Given the description of an element on the screen output the (x, y) to click on. 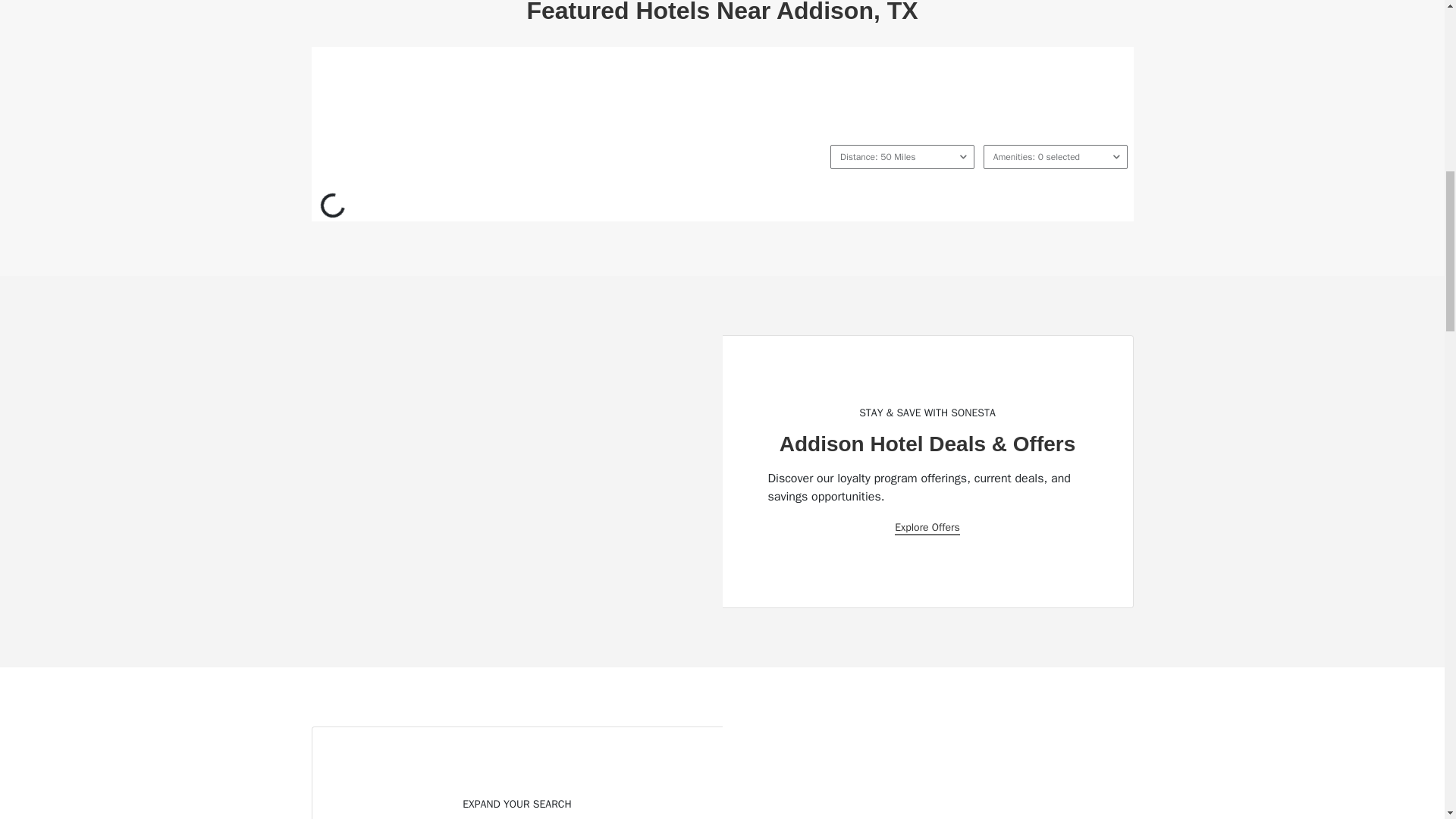
Explore Offers (927, 527)
Amenities: 0 selected (1055, 156)
Distance: 50 Miles (901, 156)
